Given the description of an element on the screen output the (x, y) to click on. 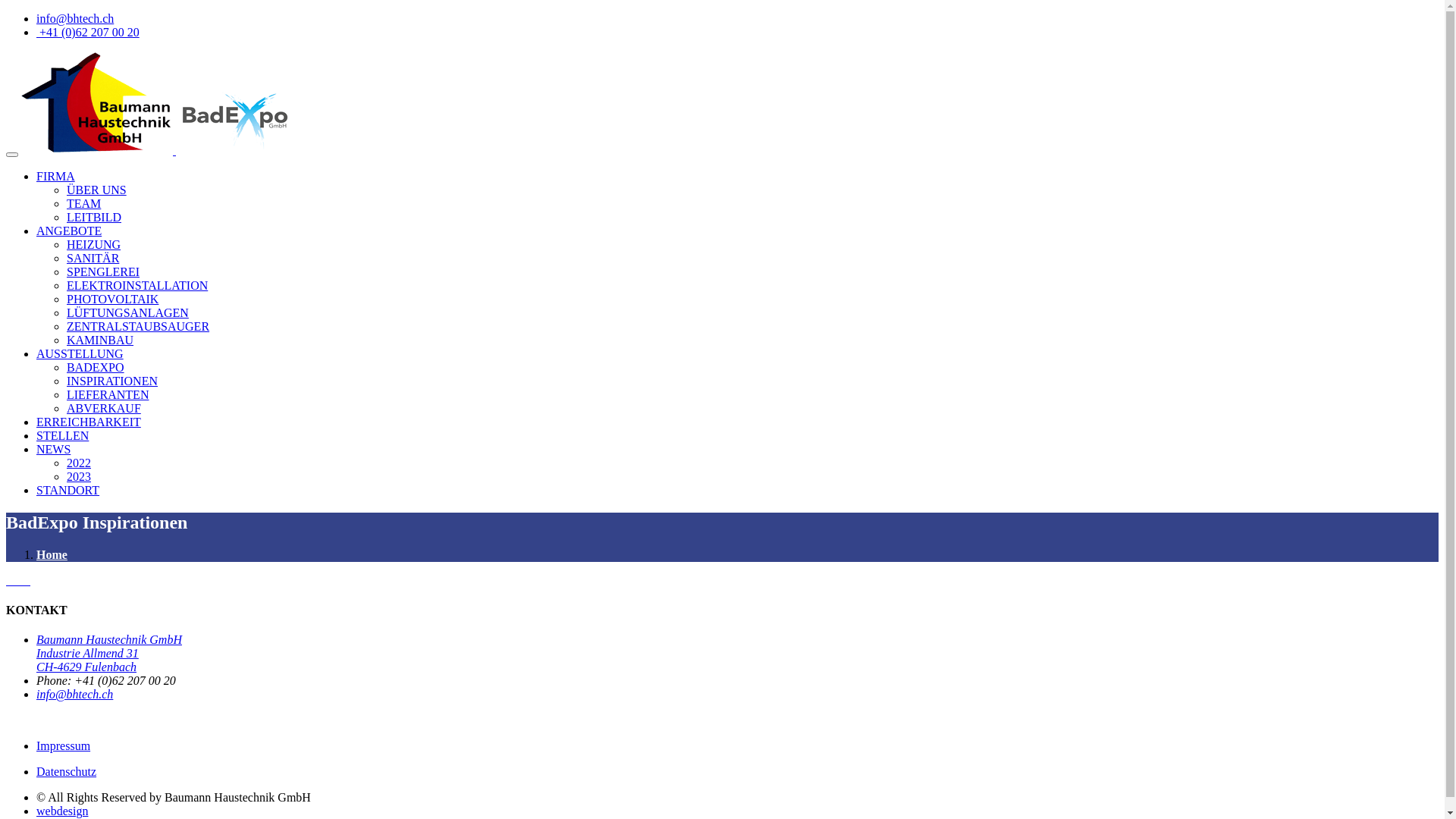
ERREICHBARKEIT Element type: text (88, 421)
FIRMA Element type: text (55, 175)
NEWS Element type: text (53, 448)
Datenschutz Element type: text (66, 771)
ABVERKAUF Element type: text (103, 407)
info@bhtech.ch Element type: text (74, 18)
LIEFERANTEN Element type: text (107, 394)
INSPIRATIONEN Element type: text (111, 380)
STELLEN Element type: text (62, 435)
ZENTRALSTAUBSAUGER Element type: text (137, 326)
LEITBILD Element type: text (93, 216)
2022 Element type: text (78, 462)
HEIZUNG Element type: text (93, 244)
info@bhtech.ch Element type: text (74, 693)
2023 Element type: text (78, 476)
 +41 (0)62 207 00 20 Element type: text (87, 31)
AUSSTELLUNG Element type: text (79, 353)
ANGEBOTE Element type: text (68, 230)
Home Element type: text (51, 554)
STANDORT Element type: text (67, 489)
KAMINBAU Element type: text (99, 339)
ELEKTROINSTALLATION Element type: text (136, 285)
SPENGLEREI Element type: text (102, 271)
BADEXPO Element type: text (95, 366)
TEAM Element type: text (83, 203)
PHOTOVOLTAIK Element type: text (112, 298)
webdesign Element type: text (61, 810)
Impressum Element type: text (63, 745)
